Given the description of an element on the screen output the (x, y) to click on. 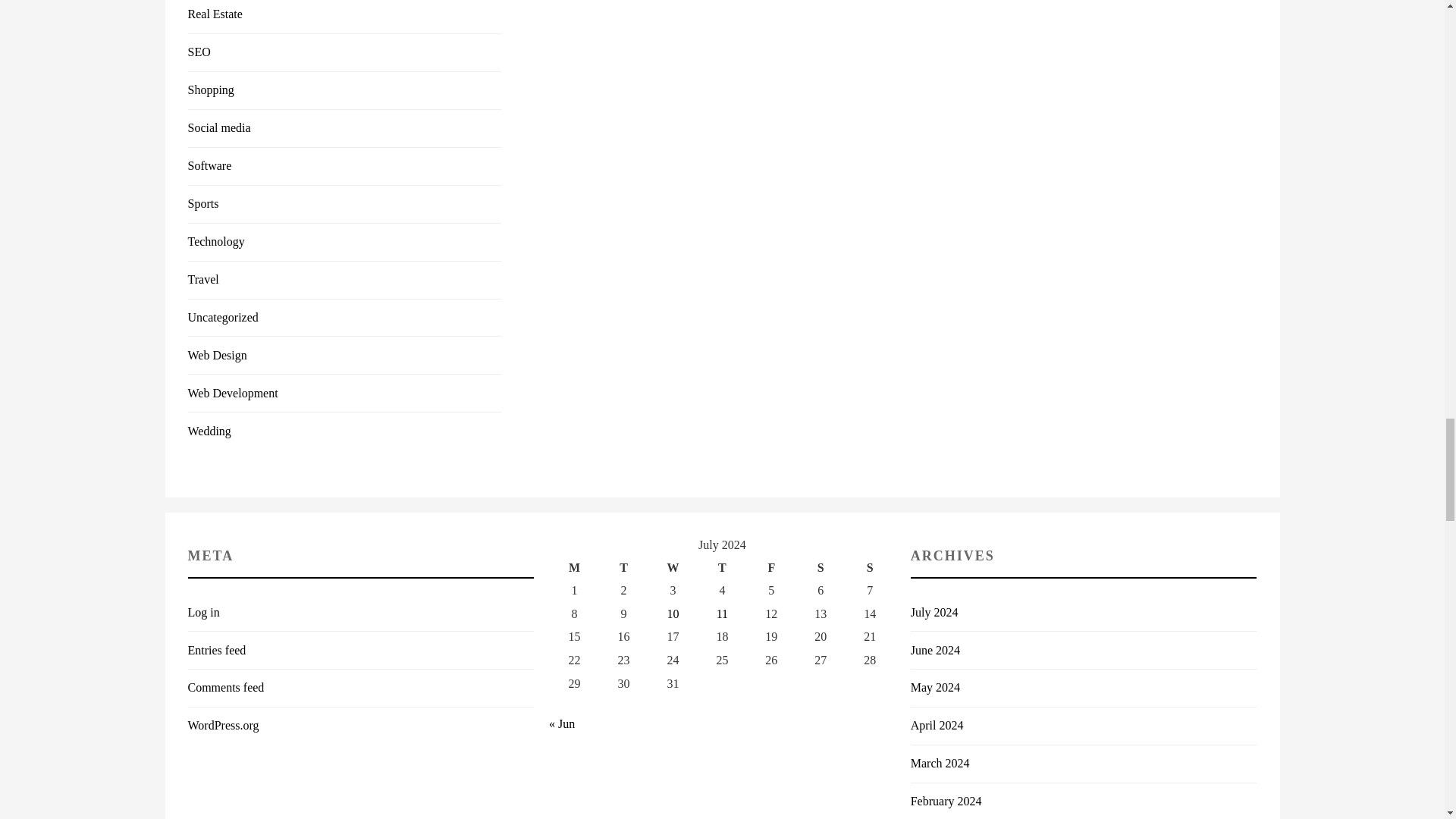
Thursday (721, 568)
Tuesday (623, 568)
Wednesday (673, 568)
Sunday (869, 568)
Saturday (820, 568)
Friday (771, 568)
Monday (574, 568)
